Given the description of an element on the screen output the (x, y) to click on. 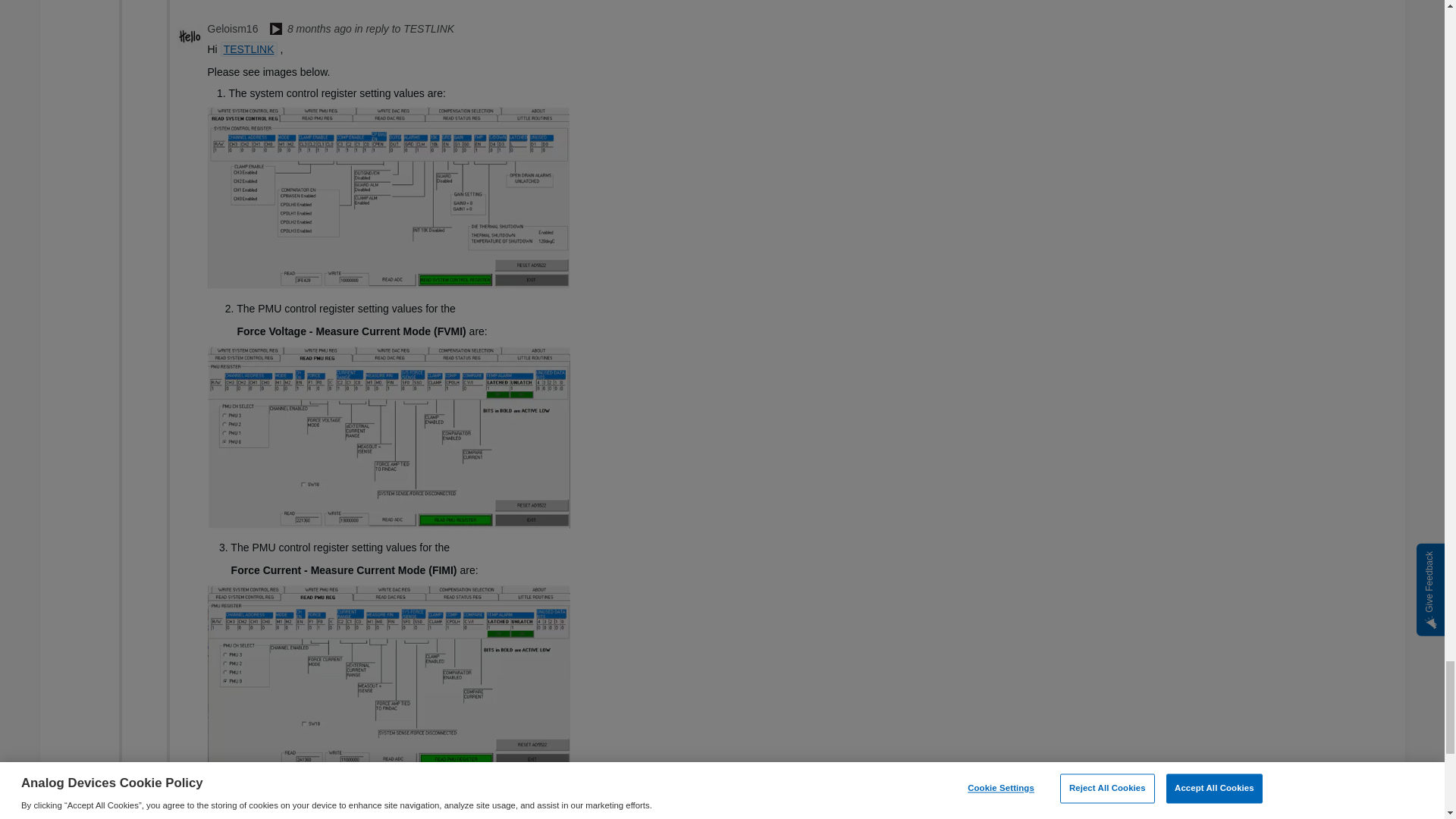
Analog Employees (275, 29)
